Given the description of an element on the screen output the (x, y) to click on. 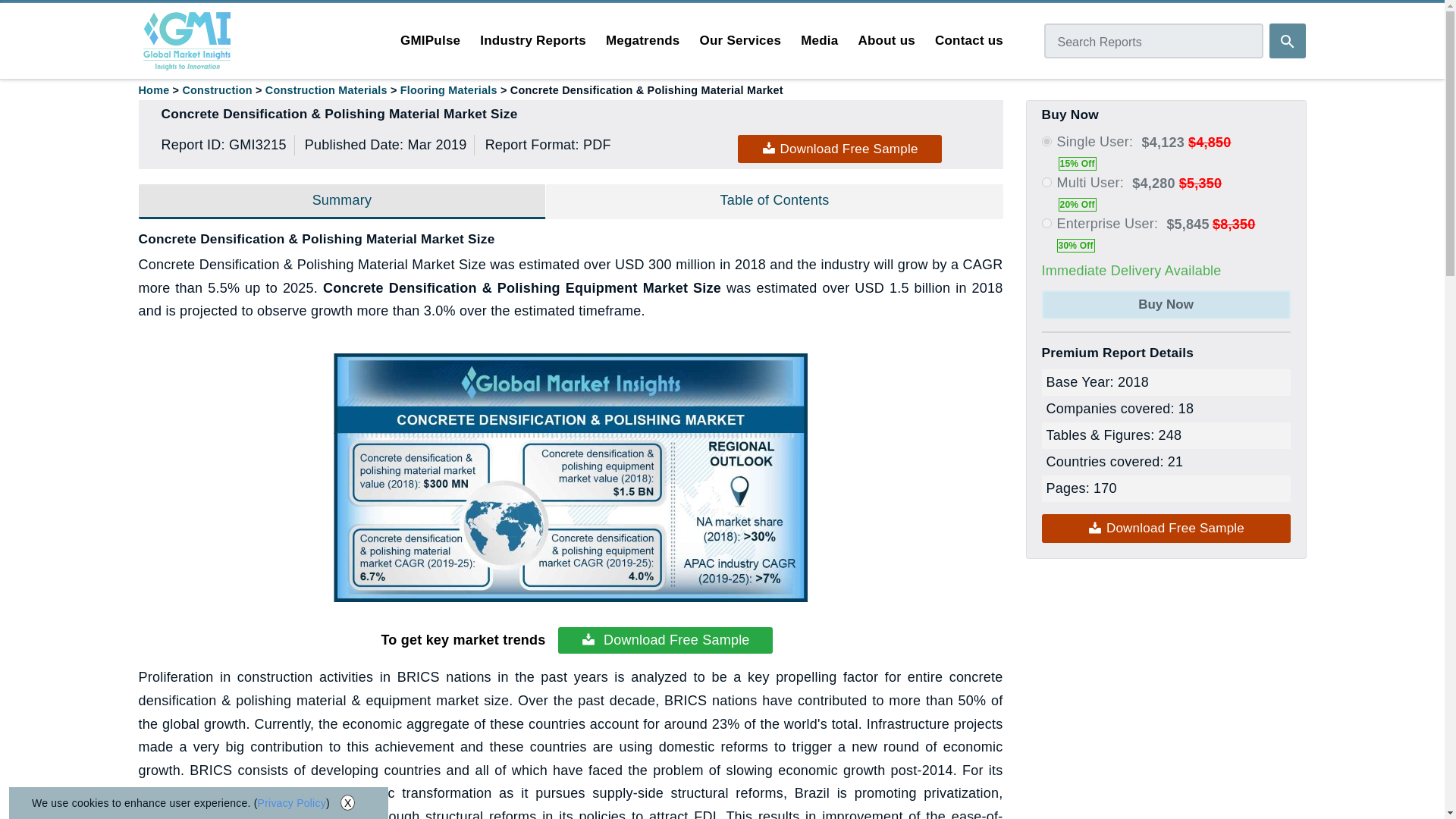
eugmp (1046, 223)
Logo (187, 40)
mugmp (1046, 182)
sugmp (1046, 141)
